Given the description of an element on the screen output the (x, y) to click on. 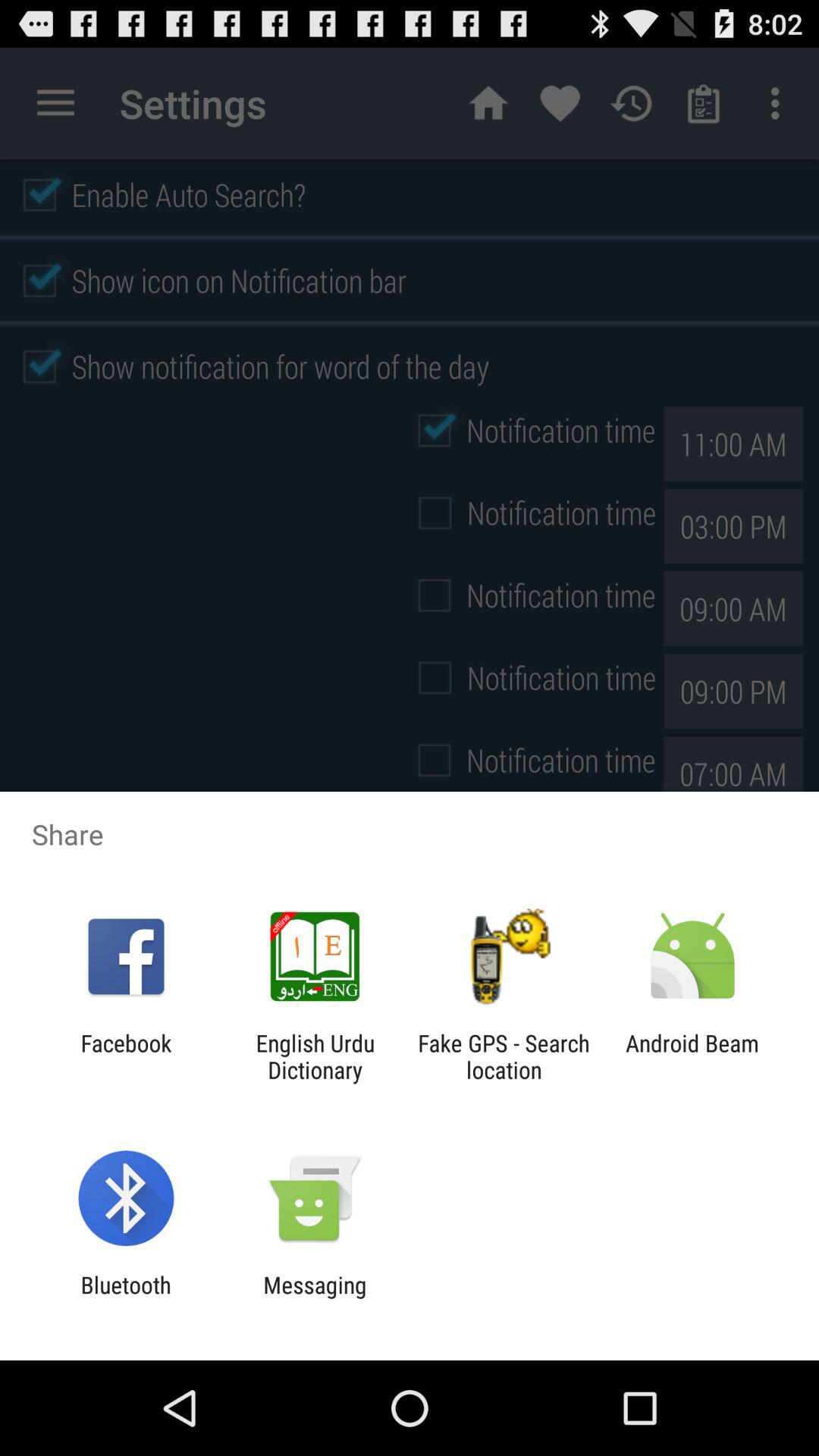
turn on item to the left of the english urdu dictionary icon (125, 1056)
